Given the description of an element on the screen output the (x, y) to click on. 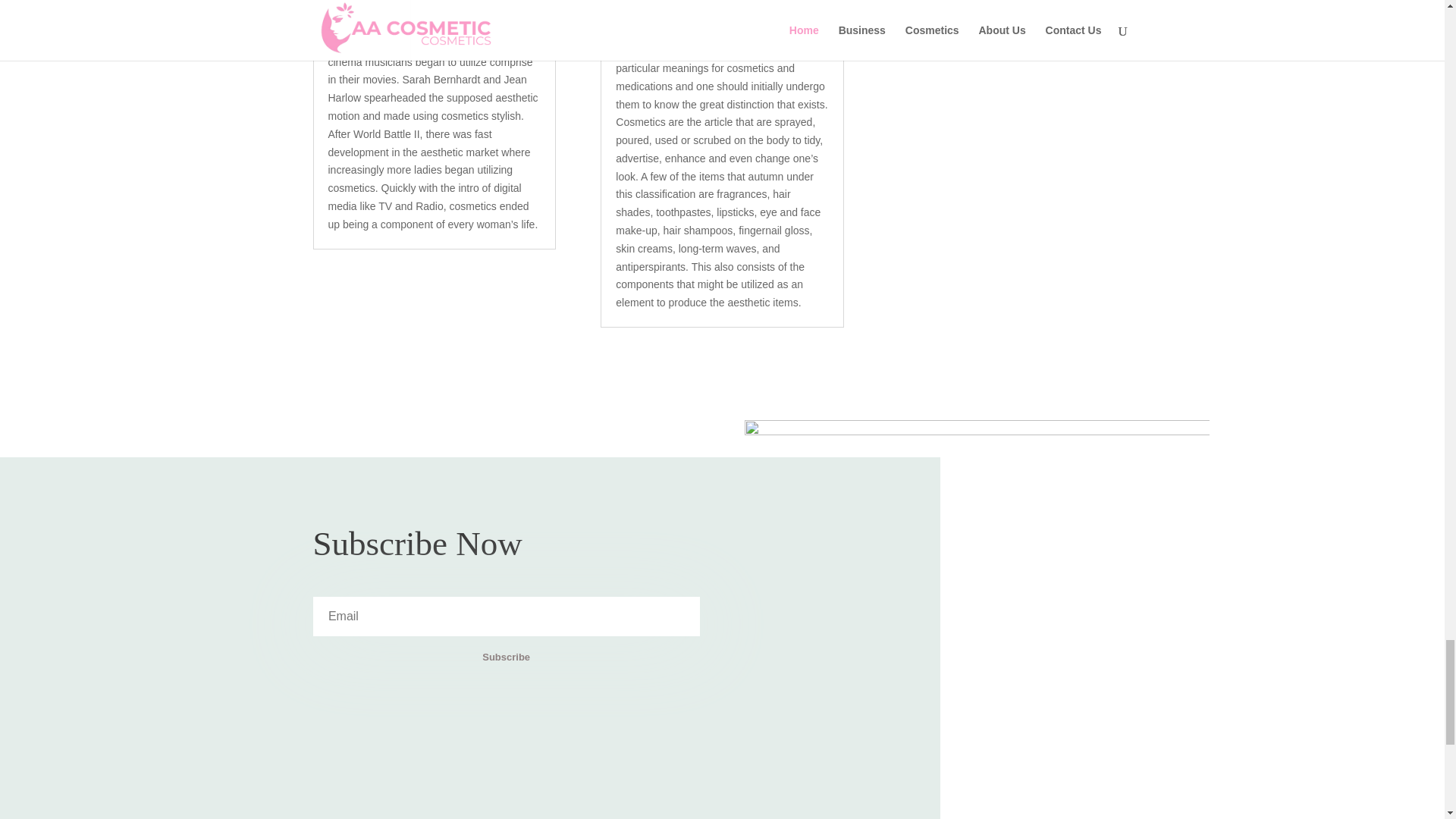
Subscribe (505, 658)
